Given the description of an element on the screen output the (x, y) to click on. 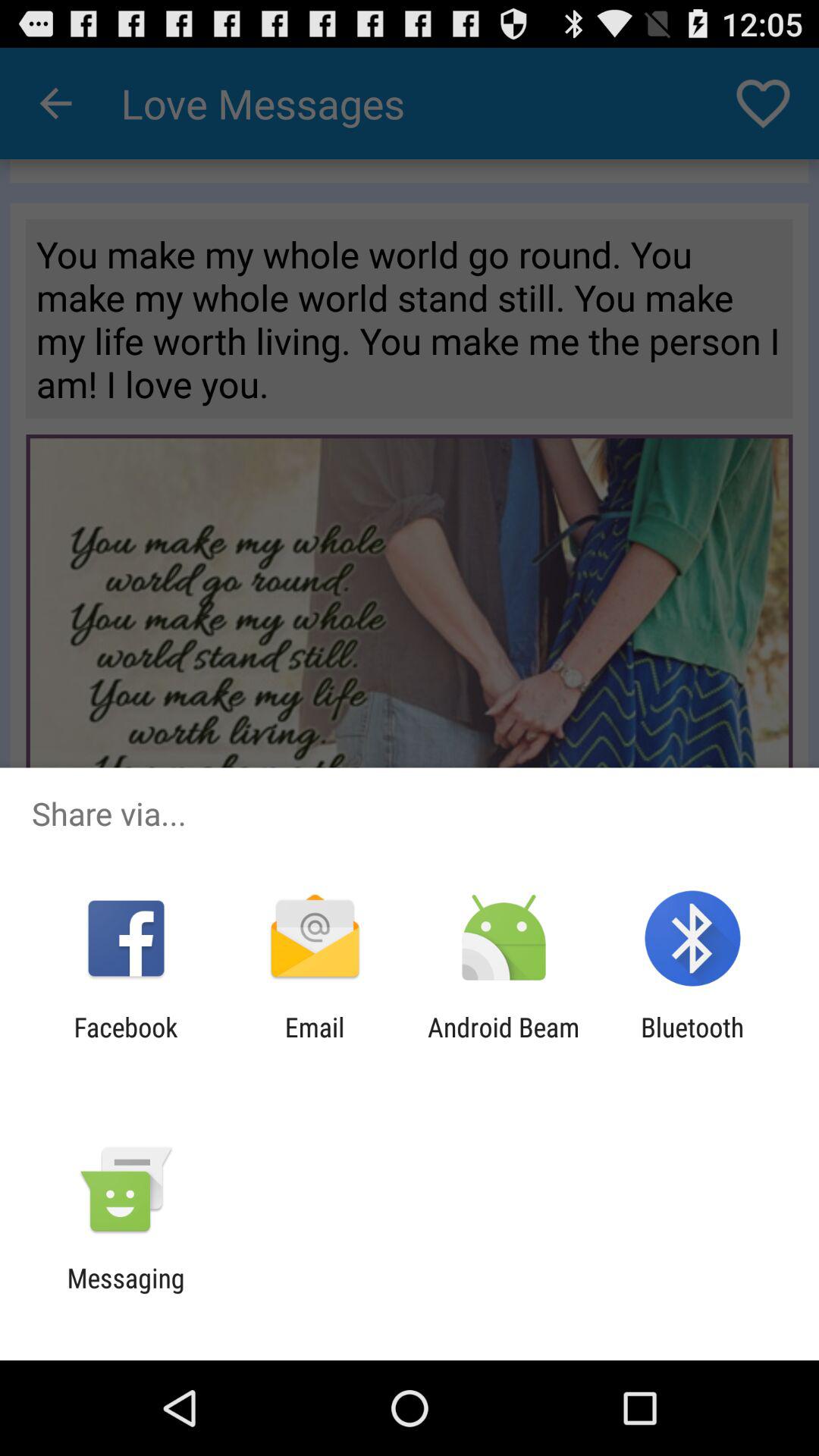
select item next to the email (125, 1042)
